Given the description of an element on the screen output the (x, y) to click on. 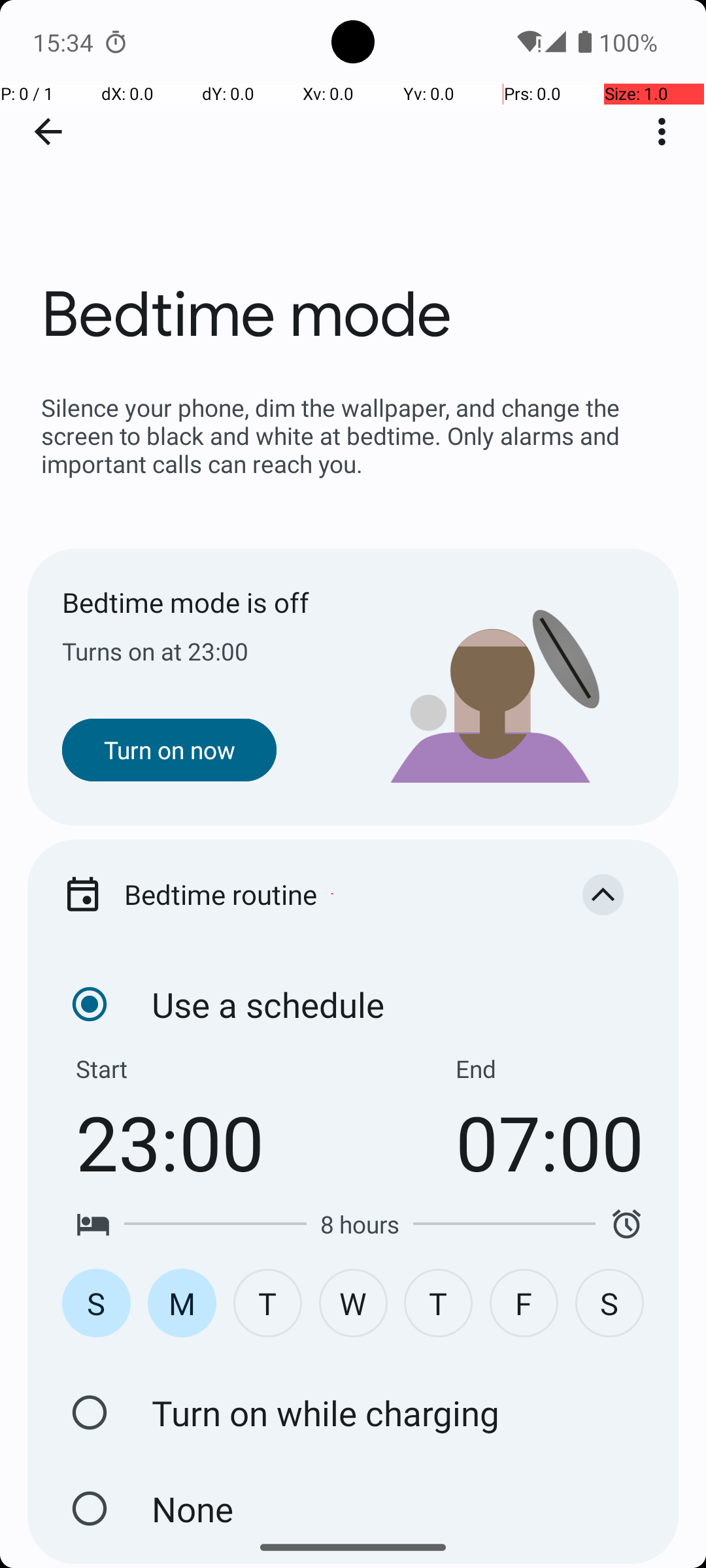
Bedtime mode Element type: android.widget.FrameLayout (353, 195)
Silence your phone, dim the wallpaper, and change the screen to black and white at bedtime. Only alarms and important calls can reach you. Element type: android.widget.TextView (352, 435)
Bedtime mode is off Element type: android.widget.TextView (207, 601)
Turns on at 23:00 Element type: android.widget.TextView (207, 650)
Turn on now Element type: android.widget.Button (169, 749)
Bedtime routine Element type: android.widget.TextView (332, 893)
Collapse the card Bedtime routine Element type: android.widget.ImageView (602, 894)
8 hours Element type: android.widget.TextView (359, 1224)
Sunday, Monday Element type: android.view.View (352, 1302)
Customize Element type: android.widget.TextView (332, 1323)
Expand the card Customize Element type: android.widget.ImageView (602, 1324)
Do Not Disturb, screen options at bedtime, and more Element type: android.widget.TextView (352, 1406)
Use a schedule Element type: android.widget.RadioButton (89, 1003)
23:00 Element type: android.widget.TextView (169, 1141)
End Element type: android.widget.TextView (475, 1068)
07:00 Element type: android.widget.TextView (549, 1141)
Turn on while charging Element type: android.widget.RadioButton (89, 1412)
Turn off Bedtime mode Element type: android.widget.RadioButton (89, 1508)
